Given the description of an element on the screen output the (x, y) to click on. 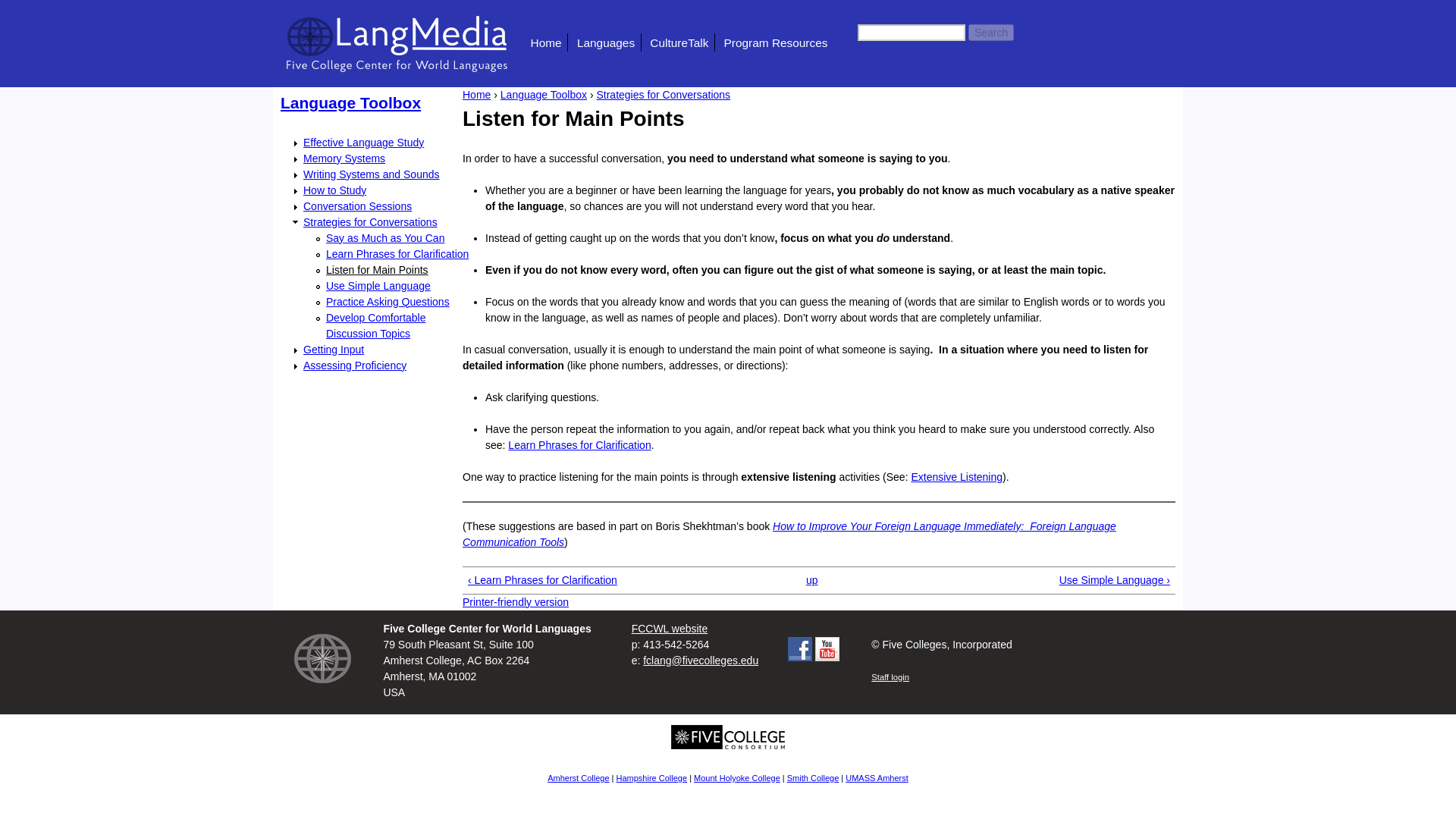
Use Simple Language (378, 285)
Facebook (799, 648)
Learn Phrases for Clarification (397, 253)
Languages (605, 42)
Conversation Sessions (357, 205)
How to Study (334, 189)
Develop Comfortable Discussion Topics (376, 325)
Strategies for Conversations (370, 221)
Language Toolbox (350, 102)
Go to parent page (811, 579)
Practice Asking Questions (387, 301)
Program Resources (775, 42)
Home (476, 93)
Printer-friendly version (516, 602)
FCCWL website (669, 627)
